Given the description of an element on the screen output the (x, y) to click on. 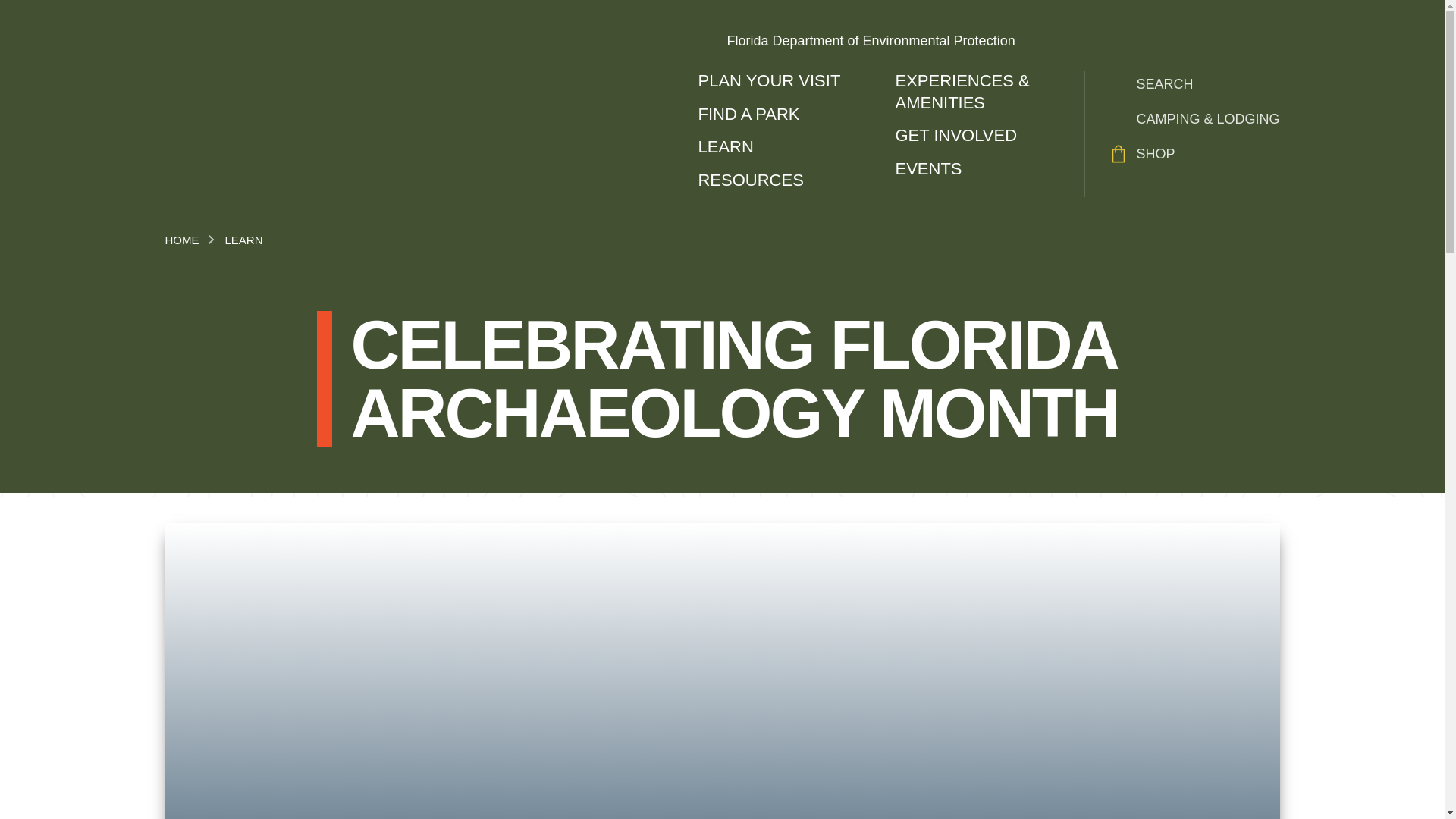
FIND A PARK (780, 115)
Florida Department of Environmental Protection (988, 40)
LEARN (780, 147)
PLAN YOUR VISIT (780, 81)
Florida Department of Environmental Protection (988, 40)
Skip to main content (624, 4)
